Given the description of an element on the screen output the (x, y) to click on. 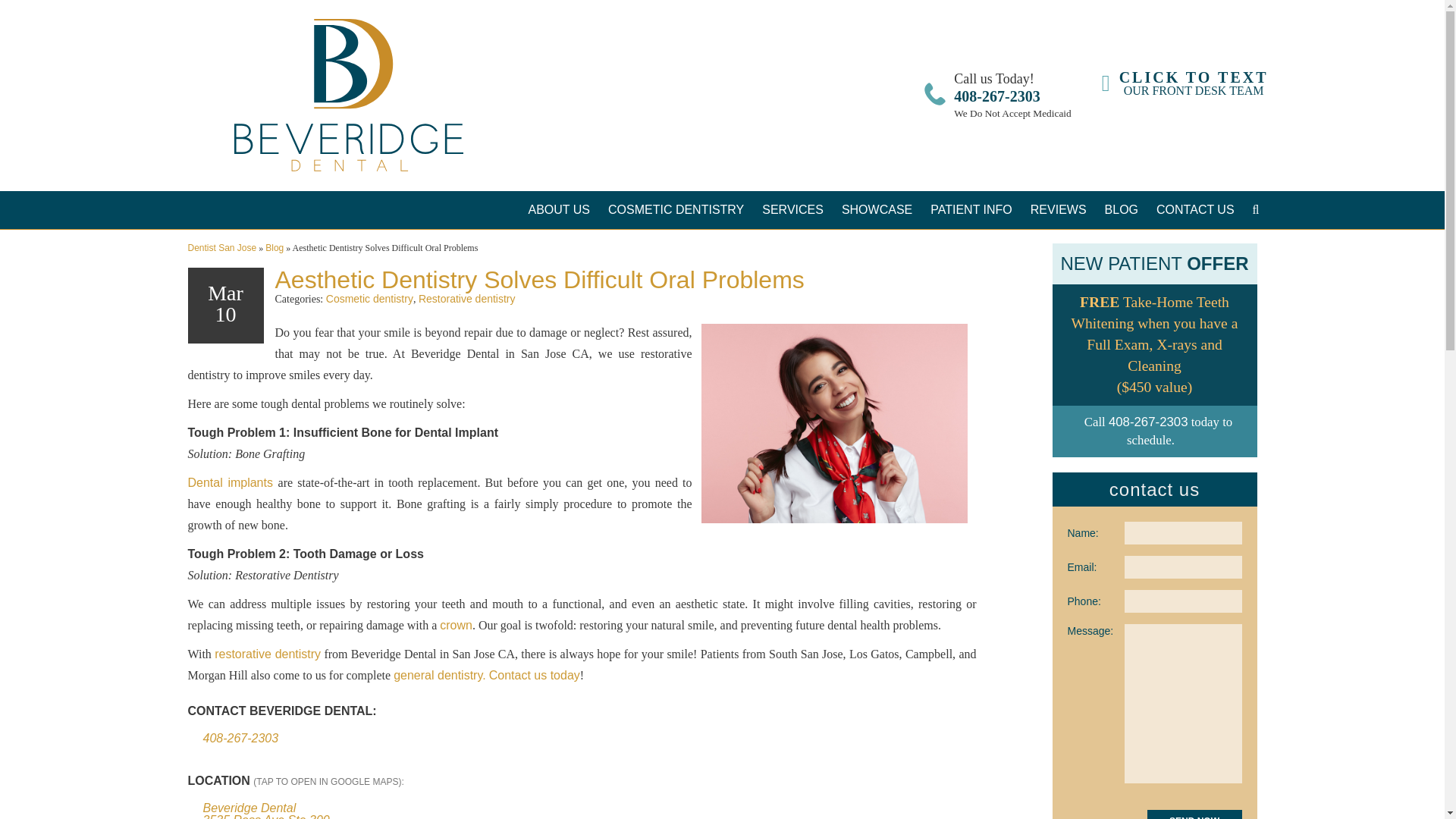
Send Now (1185, 83)
SERVICES (1194, 814)
ABOUT US (792, 209)
COSMETIC DENTISTRY (558, 209)
408-267-2303 (675, 209)
